Given the description of an element on the screen output the (x, y) to click on. 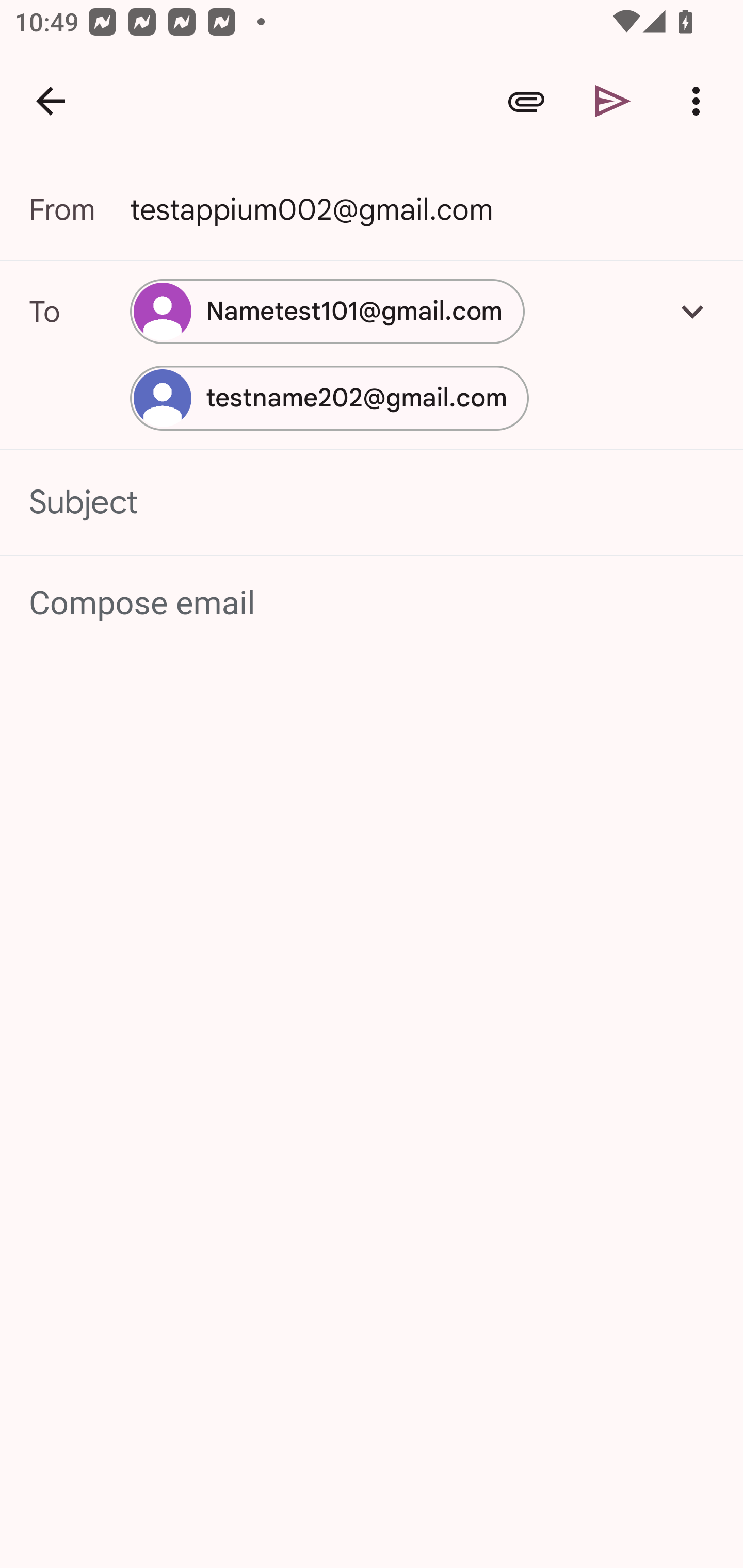
Navigate up (50, 101)
Attach file (525, 101)
Send (612, 101)
More options (699, 101)
From (79, 209)
Add Cc/Bcc (692, 311)
Subject (371, 502)
Compose email (372, 603)
